Given the description of an element on the screen output the (x, y) to click on. 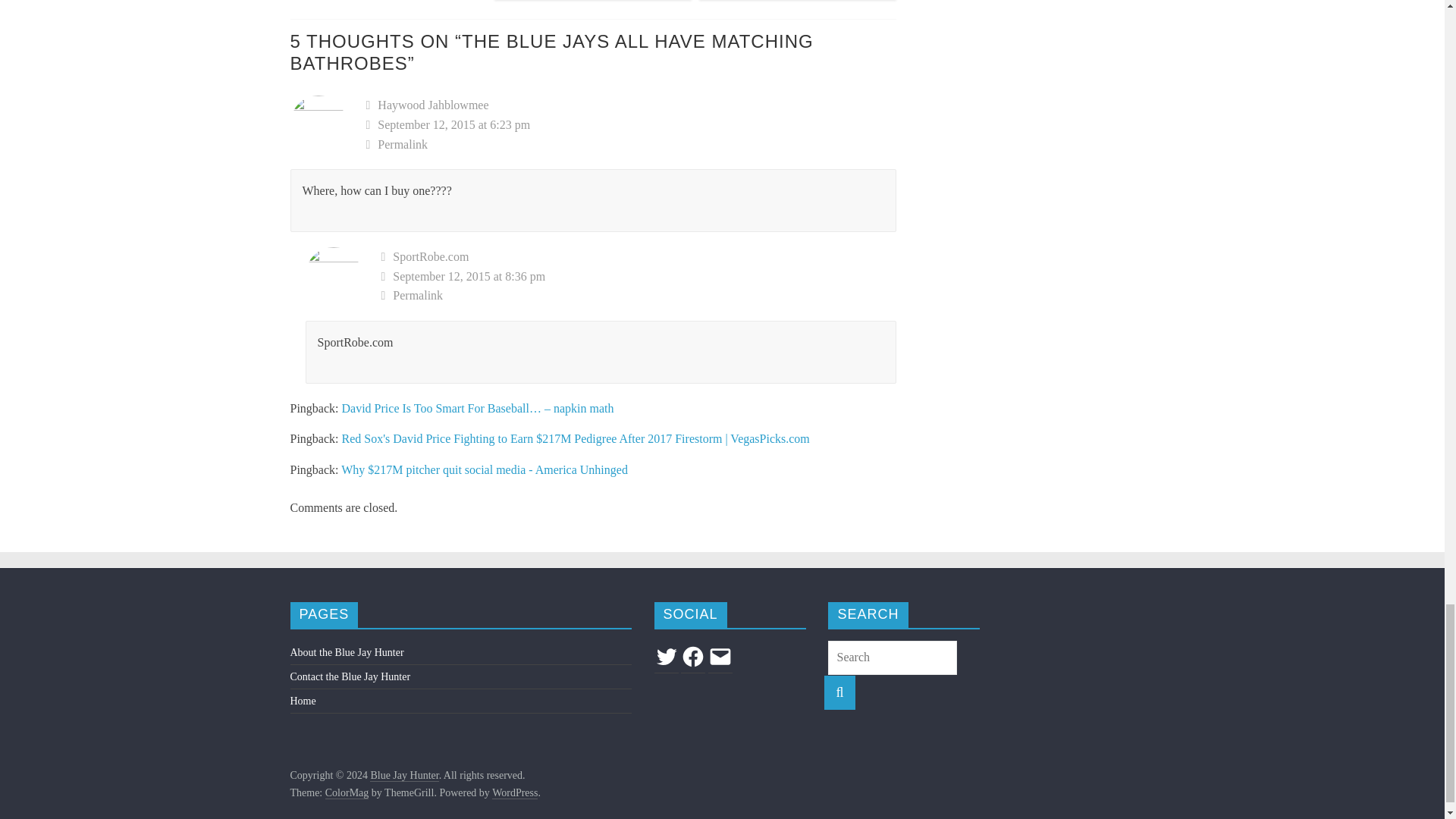
Haywood Jahblowmee (432, 104)
Permalink (638, 295)
Permalink (630, 144)
SportRobe.com (430, 256)
